Given the description of an element on the screen output the (x, y) to click on. 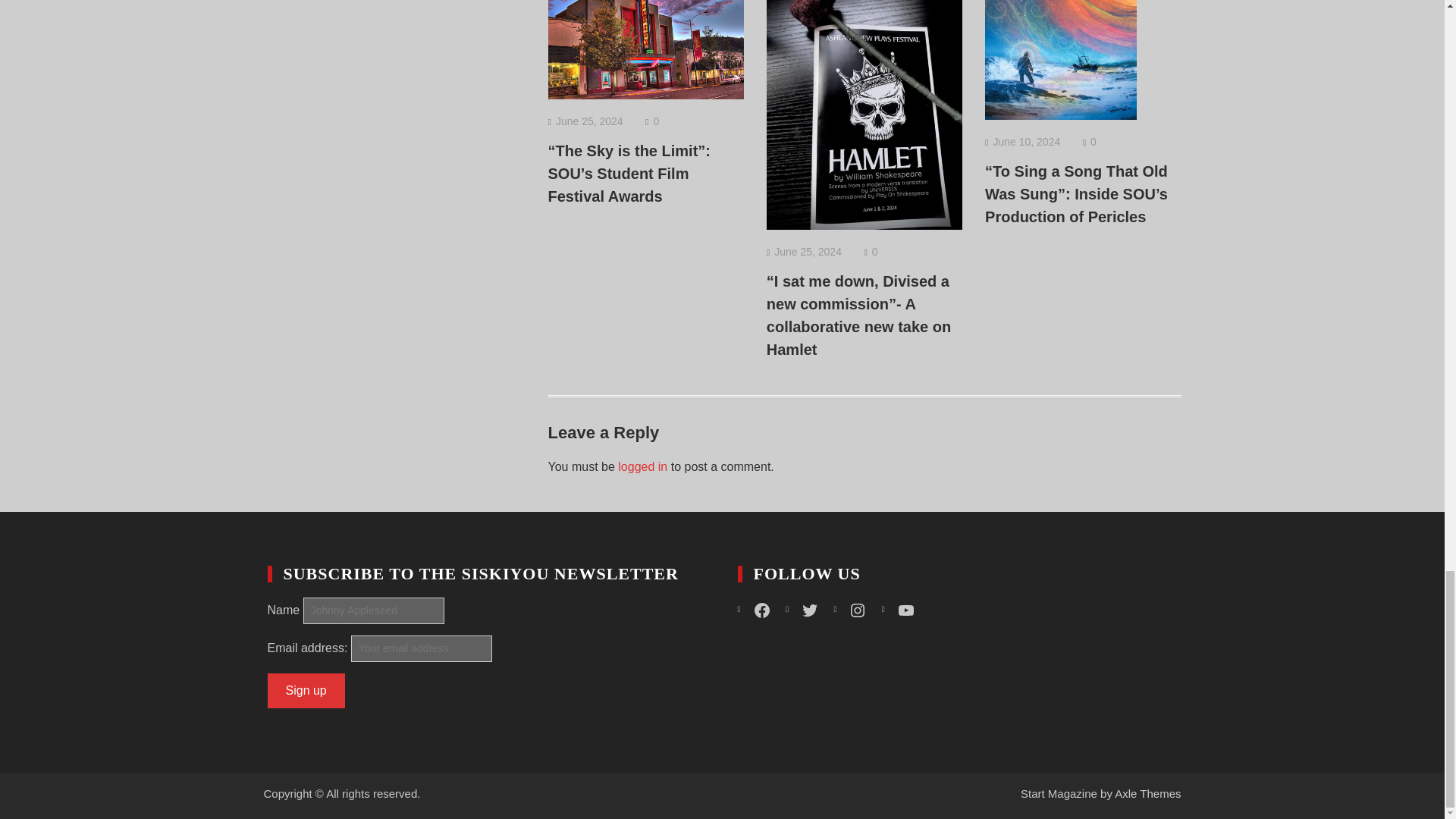
Sign up (304, 690)
